Given the description of an element on the screen output the (x, y) to click on. 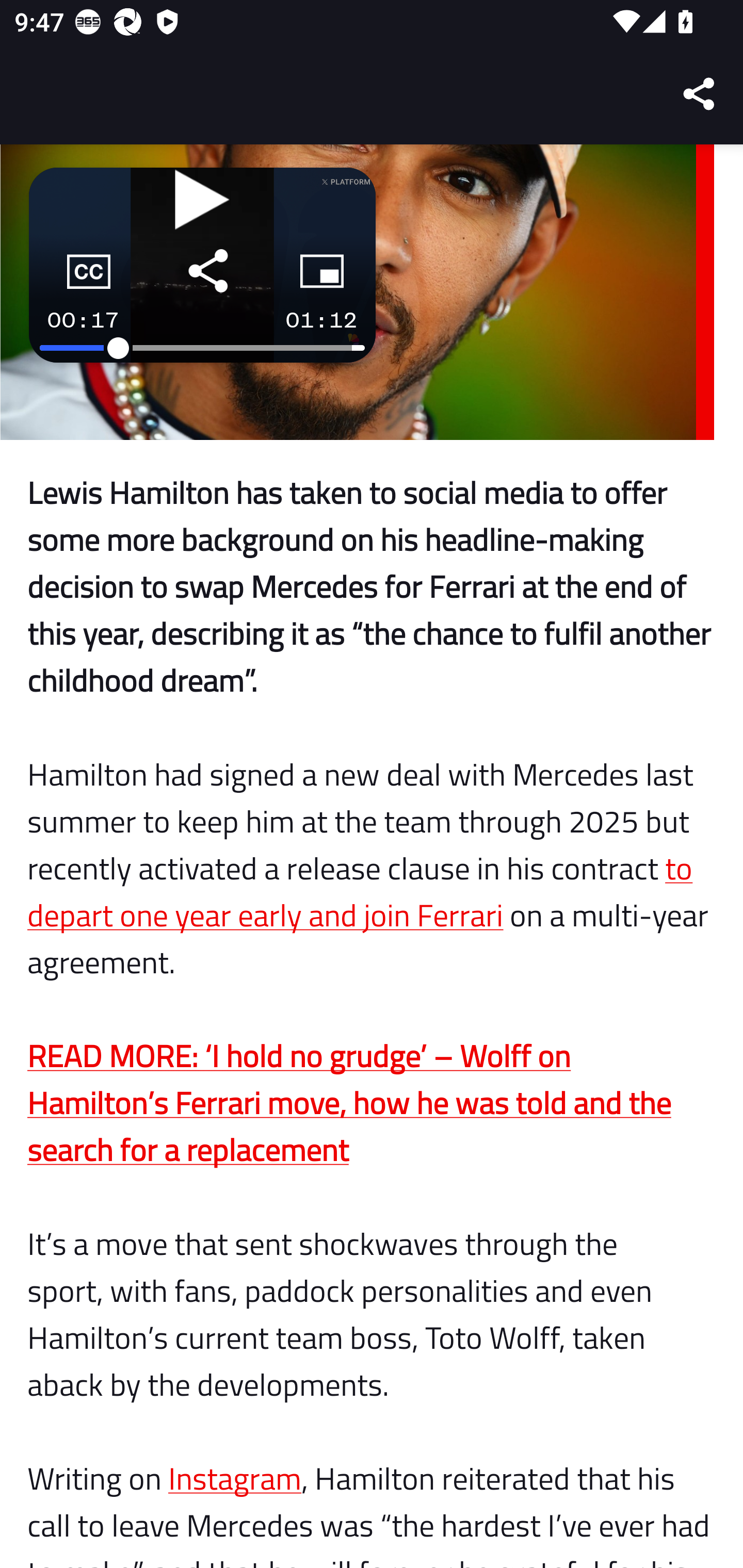
Share (699, 93)
